Given the description of an element on the screen output the (x, y) to click on. 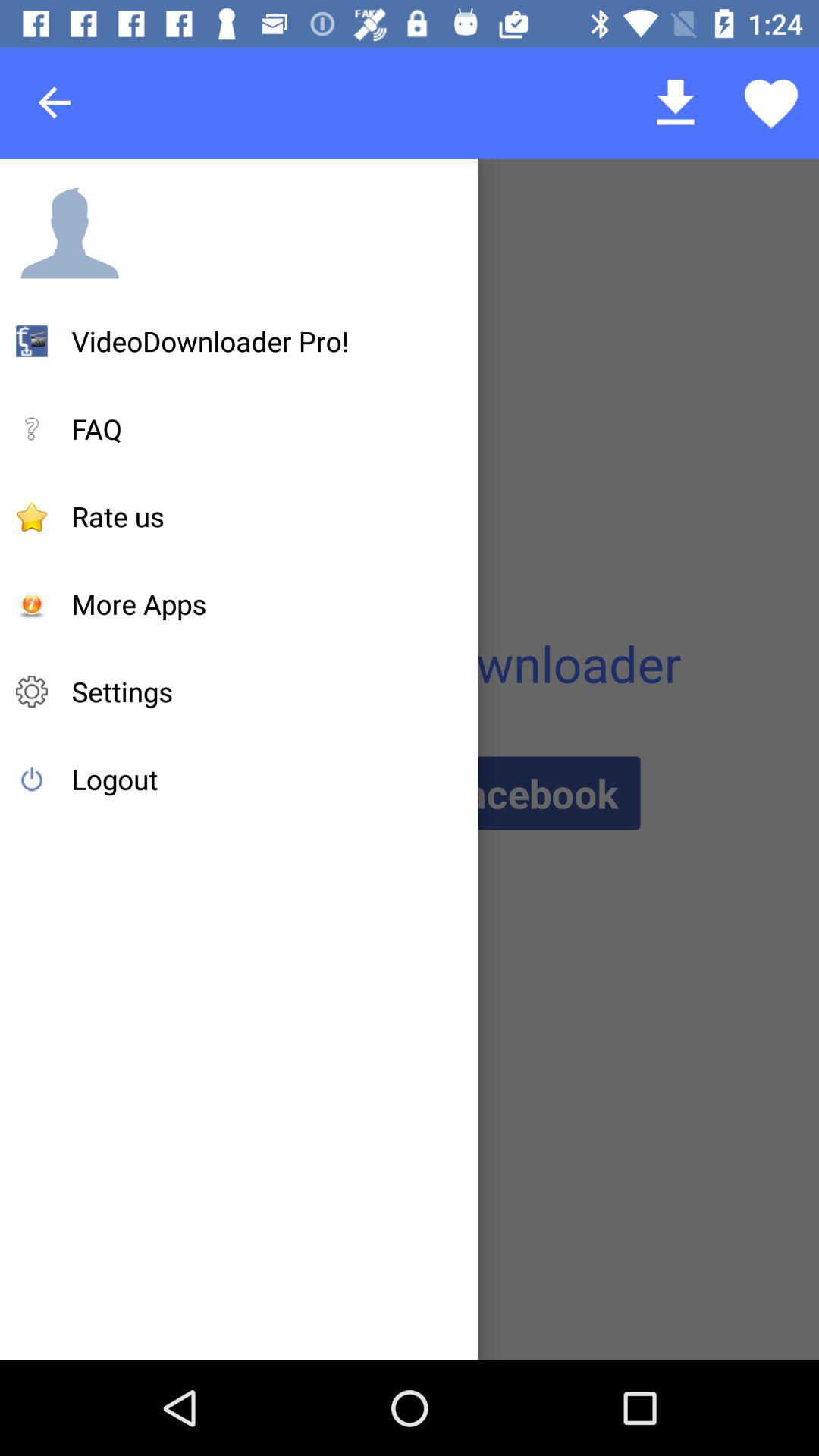
click item below the faq icon (117, 516)
